Given the description of an element on the screen output the (x, y) to click on. 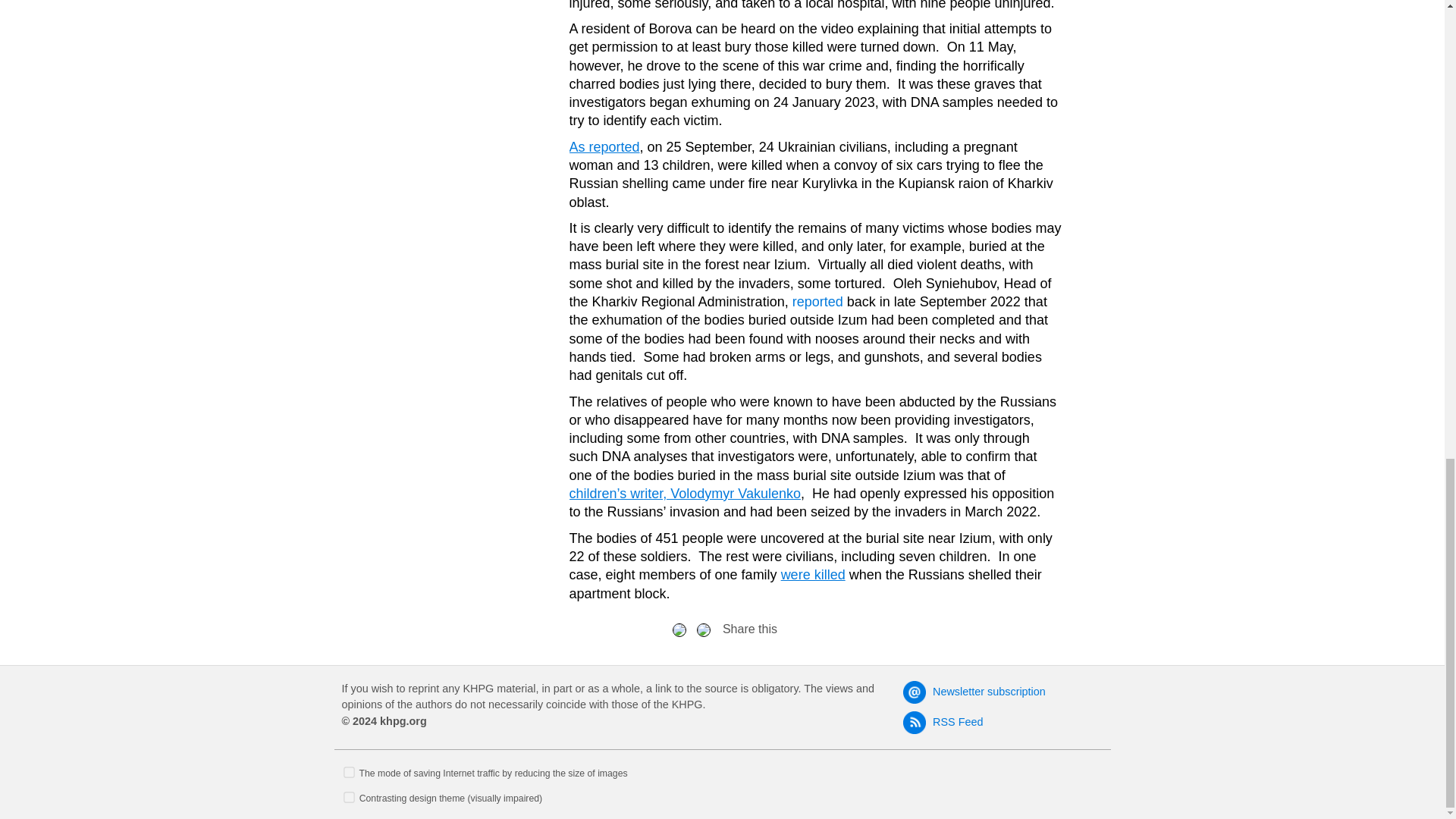
1 (348, 771)
1 (348, 796)
Facebook (678, 628)
Twitter (703, 628)
